Given the description of an element on the screen output the (x, y) to click on. 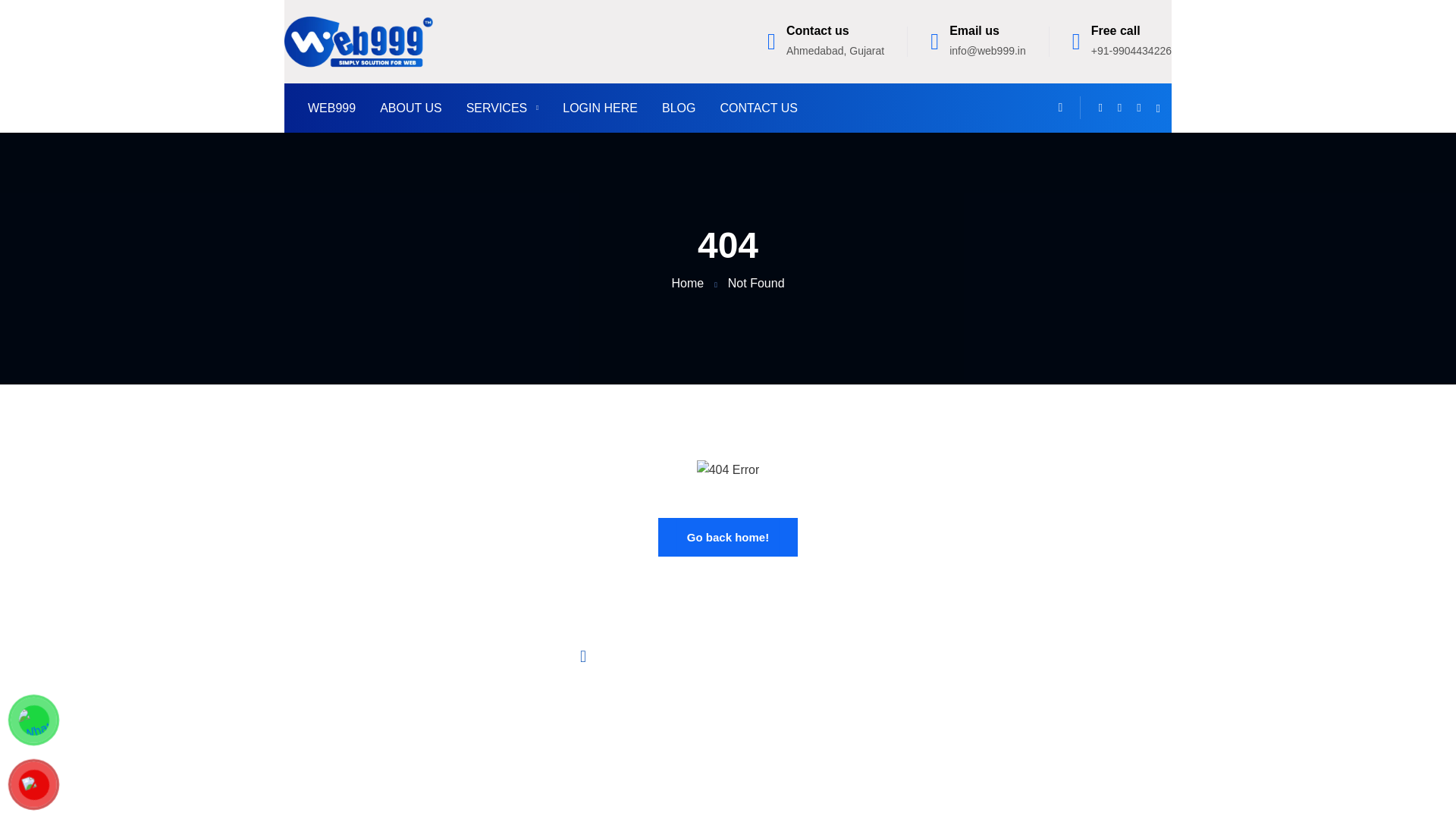
LOGIN HERE (599, 107)
SERVICES (501, 107)
WEB999 (331, 107)
CONTACT US (758, 107)
ABOUT US (411, 107)
